Given the description of an element on the screen output the (x, y) to click on. 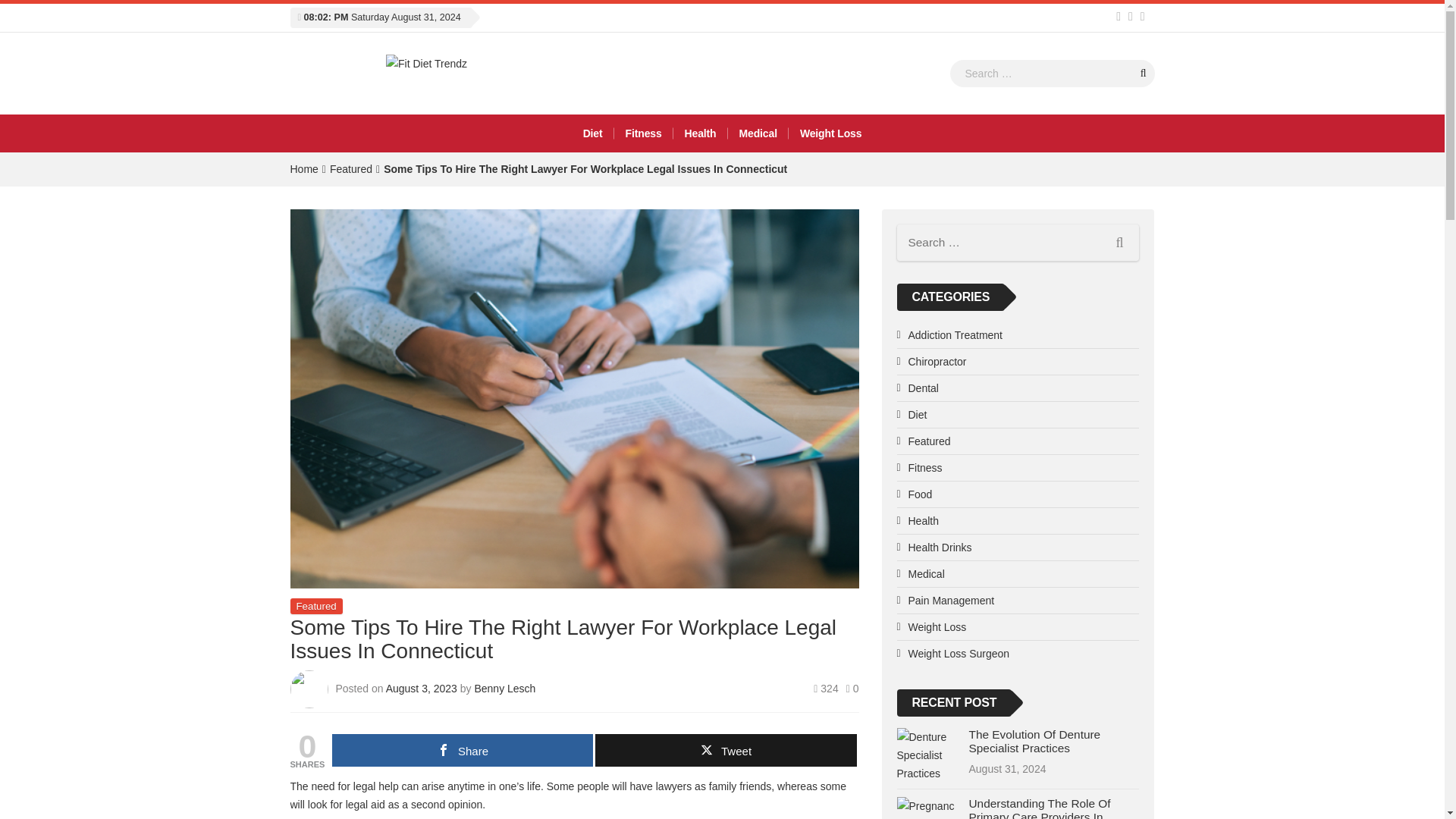
Search for: (1051, 72)
0 (852, 688)
Home (303, 168)
Medical (758, 133)
Featured (351, 168)
Fitness (643, 133)
Home (303, 168)
Tweet (725, 749)
Benny Lesch (504, 688)
Diet (593, 133)
